Given the description of an element on the screen output the (x, y) to click on. 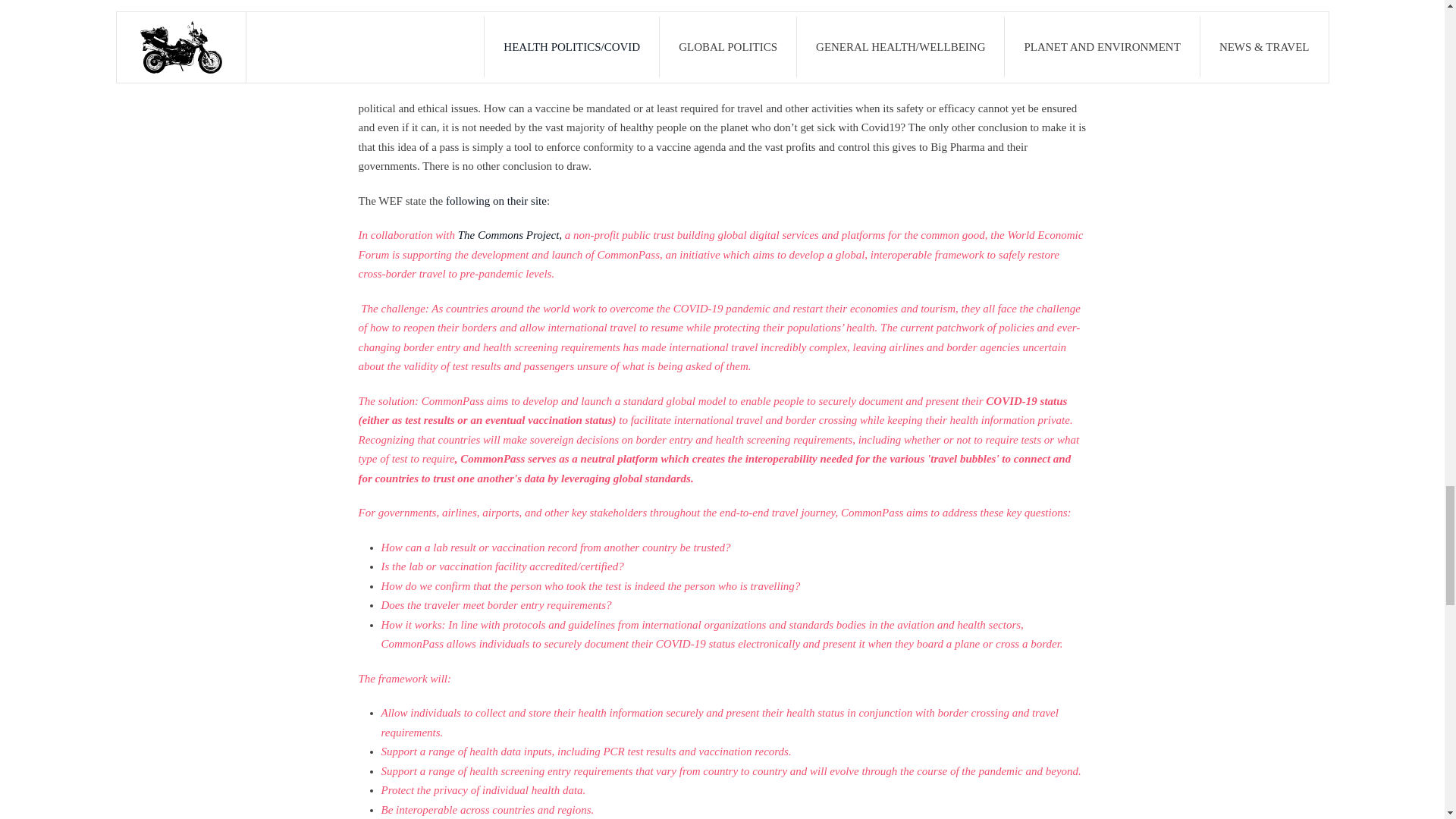
The Commons Project, (510, 234)
following on their site (496, 200)
